Given the description of an element on the screen output the (x, y) to click on. 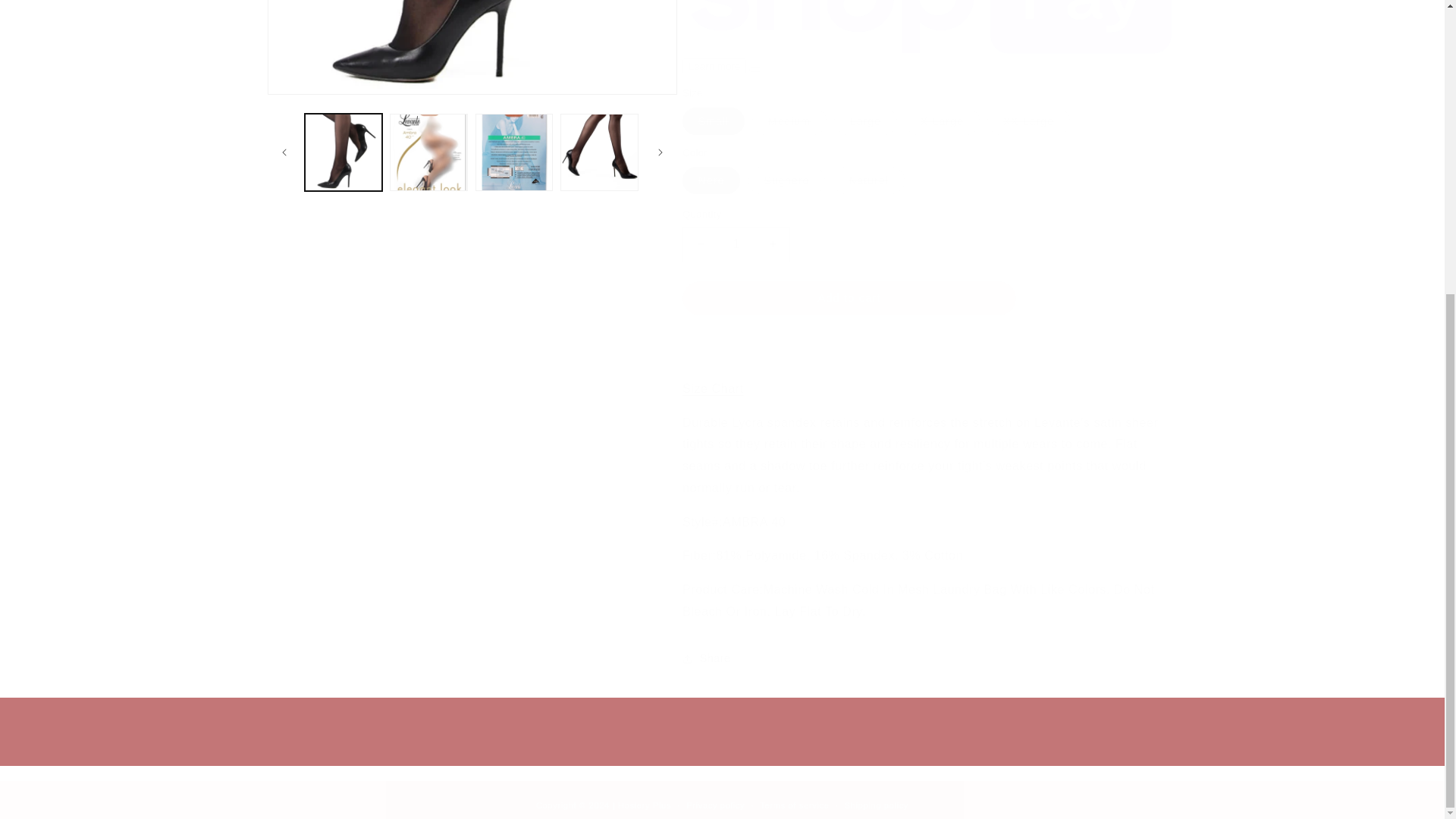
Open media 1 in modal (471, 47)
1 (736, 244)
